Given the description of an element on the screen output the (x, y) to click on. 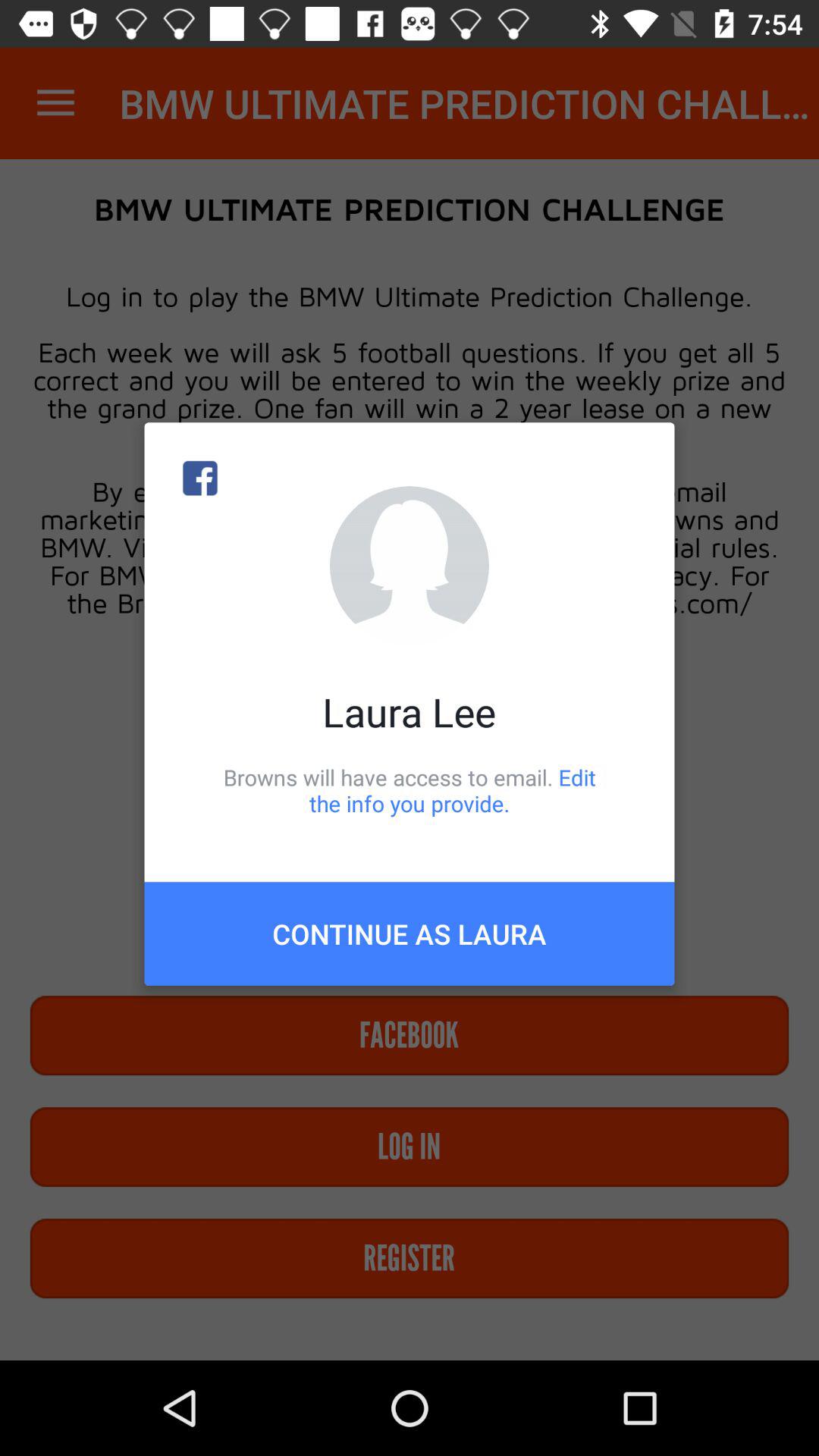
turn on item above the continue as laura icon (409, 790)
